Given the description of an element on the screen output the (x, y) to click on. 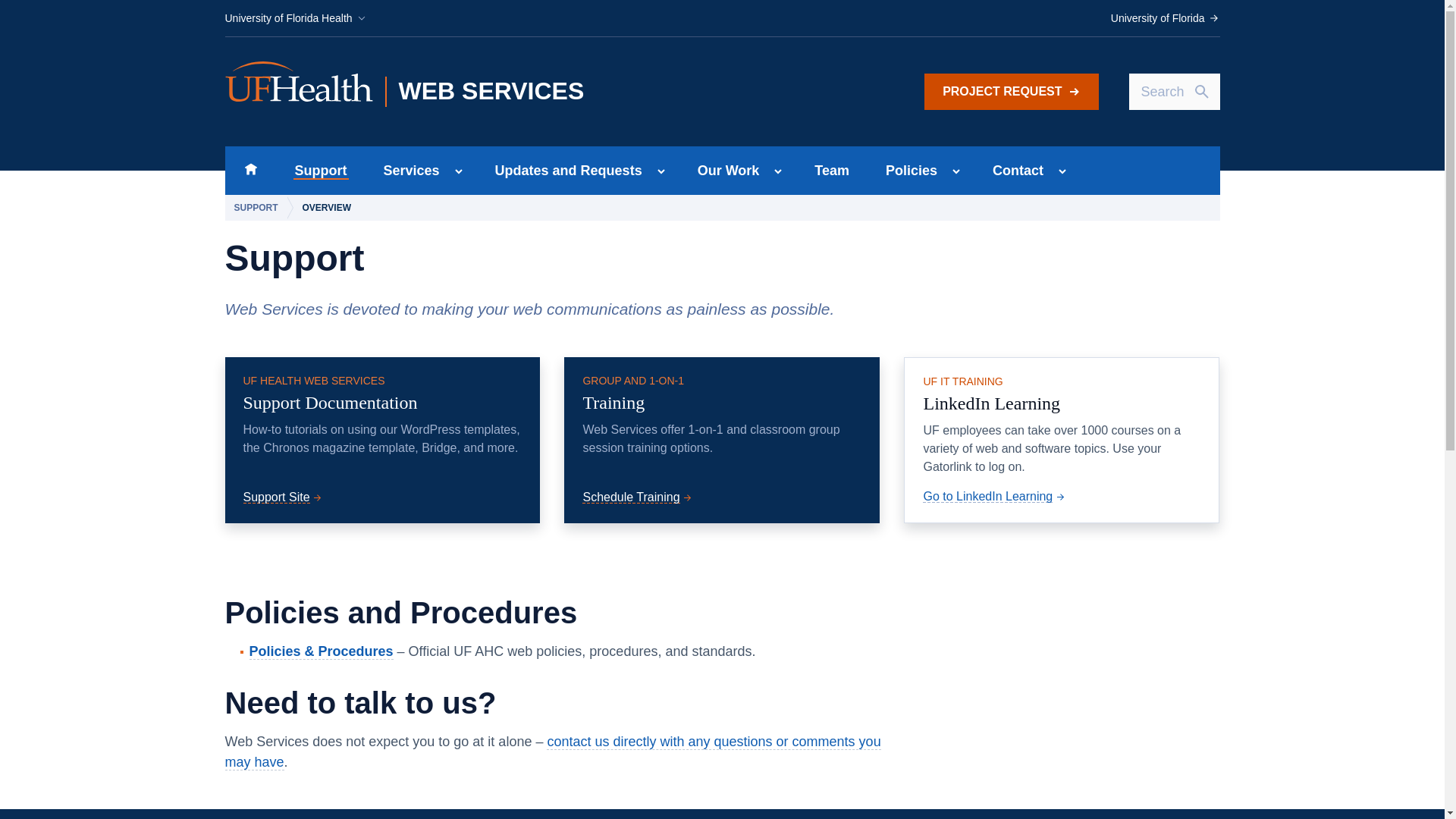
Go to LinkedIn Learning (995, 495)
University of Florida Health (295, 18)
Schedule Training (320, 170)
Services (638, 496)
Our Work (406, 170)
University of Florida (723, 170)
Support Site (1165, 18)
Skip to main content (283, 496)
